Given the description of an element on the screen output the (x, y) to click on. 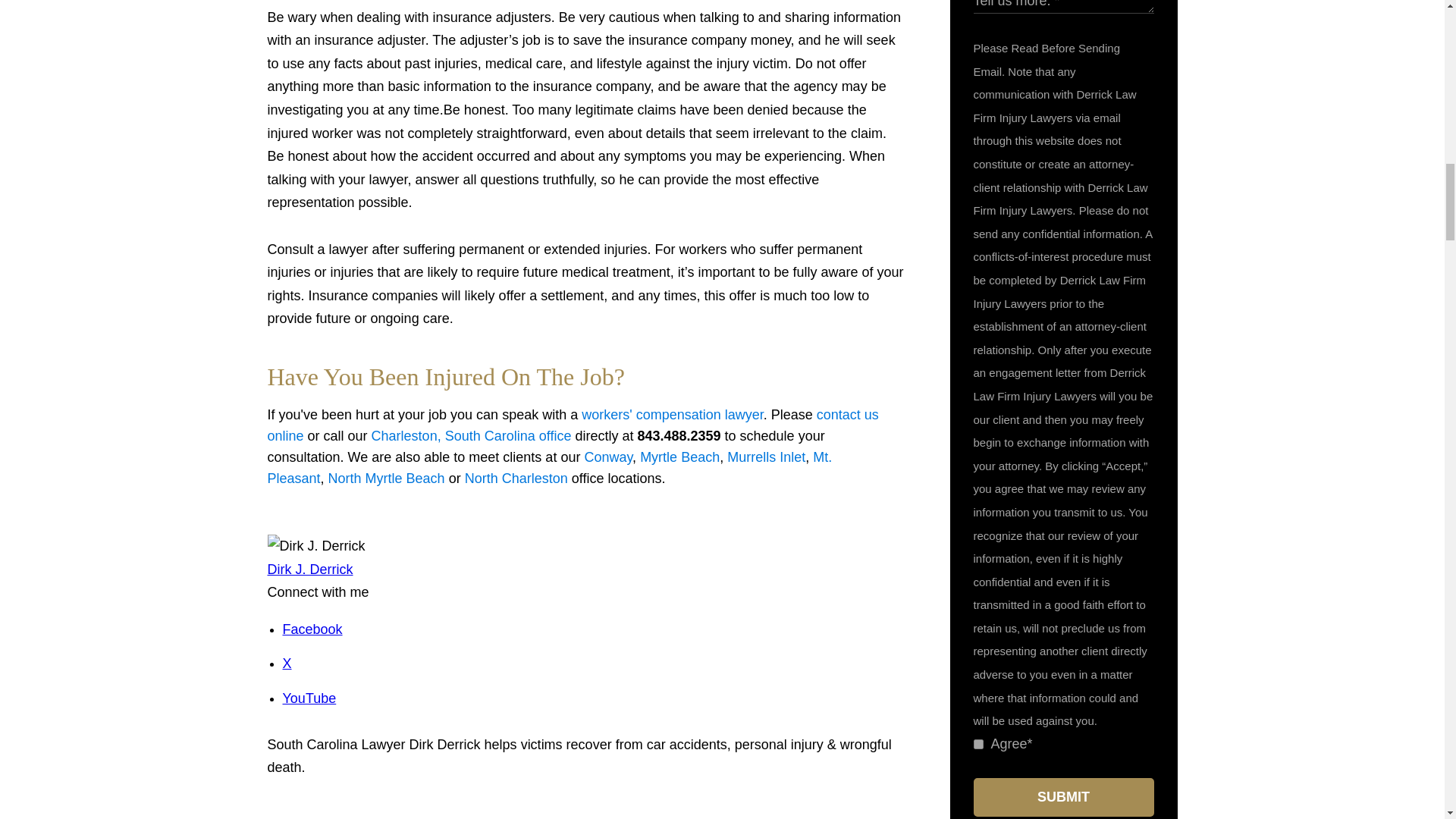
Watch me on YouTube (309, 698)
Agree (979, 744)
Follow me on X (286, 663)
Find me on Facebook (312, 629)
